Given the description of an element on the screen output the (x, y) to click on. 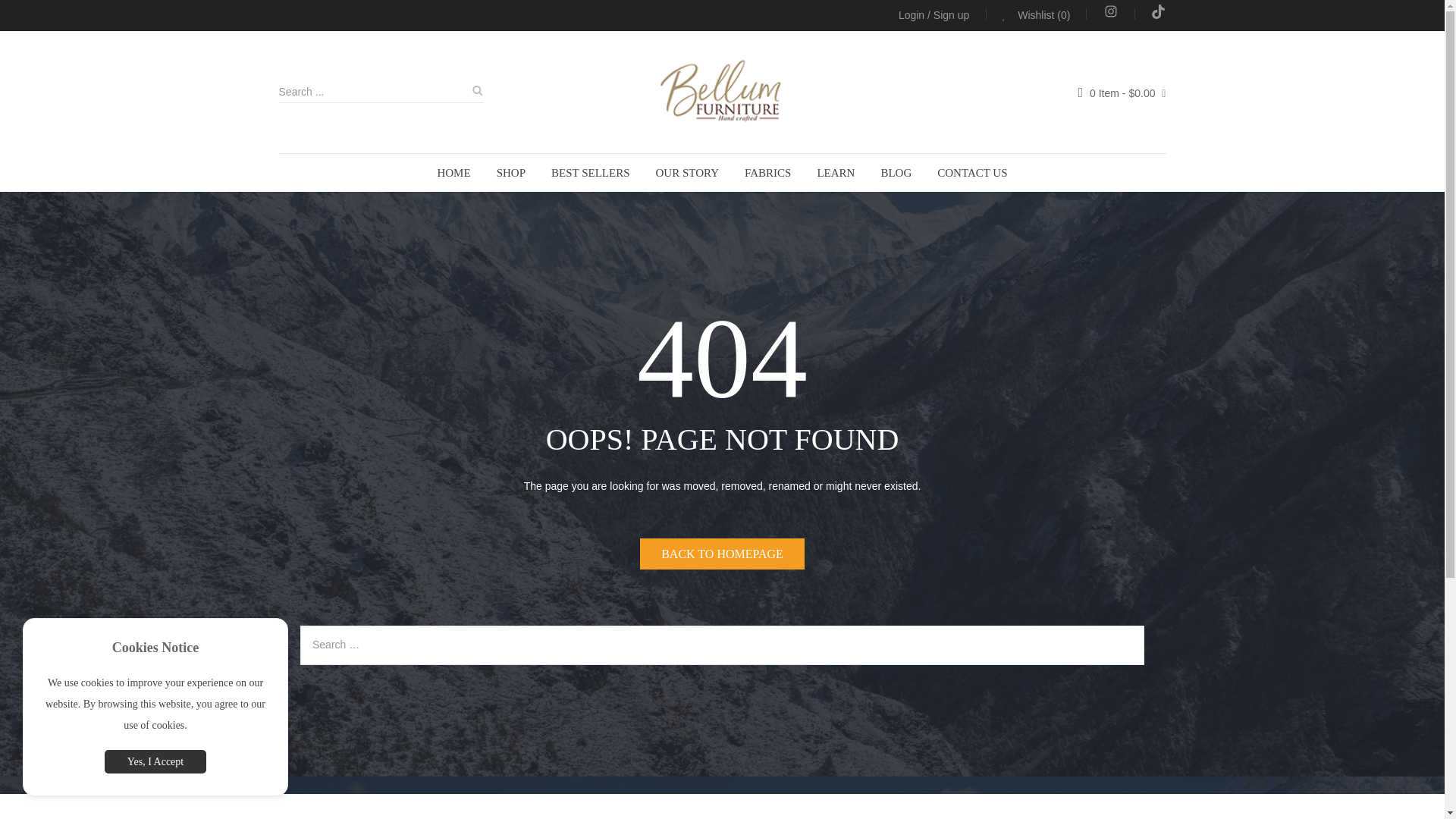
Search (476, 92)
Search (476, 92)
Login (911, 15)
OUR STORY (687, 172)
Instagram (1110, 15)
BLOG (895, 172)
LEARN (835, 172)
Carna Store (722, 91)
Login (911, 15)
Search (476, 92)
Wishlist (1036, 15)
FABRICS (767, 172)
TikTok (1158, 15)
HOME (453, 172)
CONTACT US (972, 172)
